Given the description of an element on the screen output the (x, y) to click on. 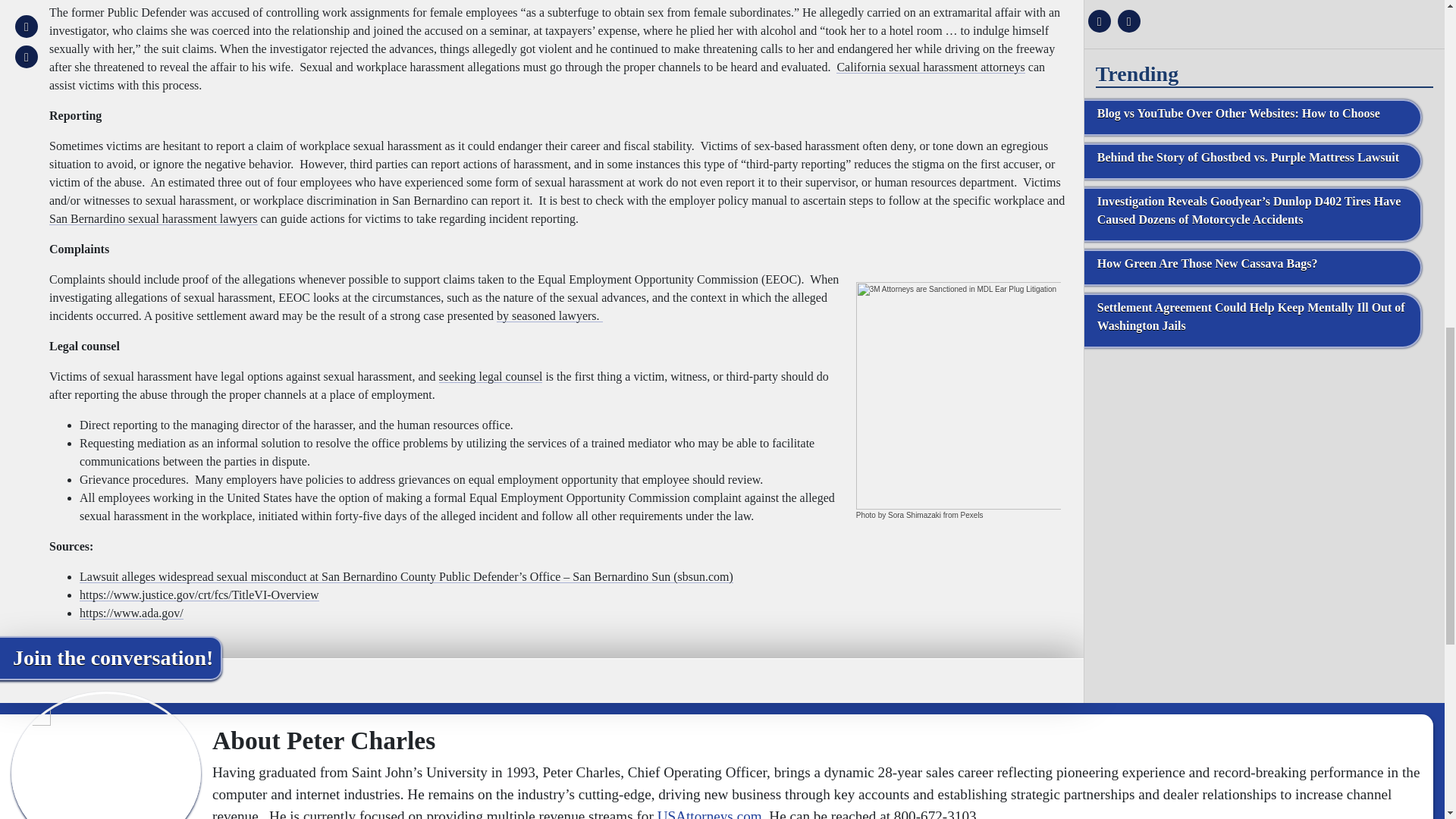
seeking legal counsel (491, 376)
USAttorneys.com (709, 813)
San Bernardino sexual harassment lawyers (153, 218)
California sexual harassment attorneys (930, 66)
by seasoned lawyers.  (549, 315)
